Given the description of an element on the screen output the (x, y) to click on. 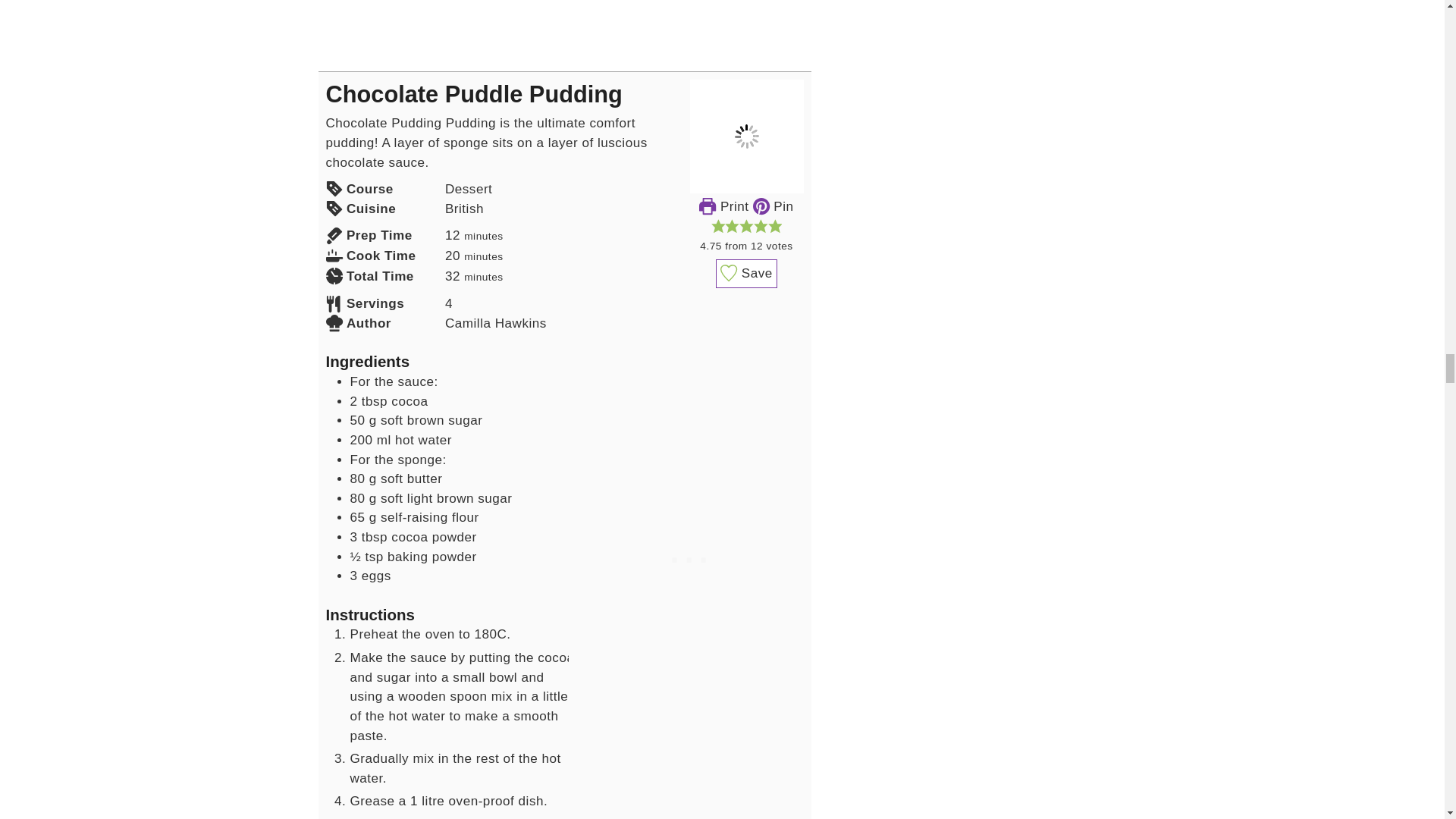
Save (746, 273)
Pin (772, 206)
Print (723, 206)
